Given the description of an element on the screen output the (x, y) to click on. 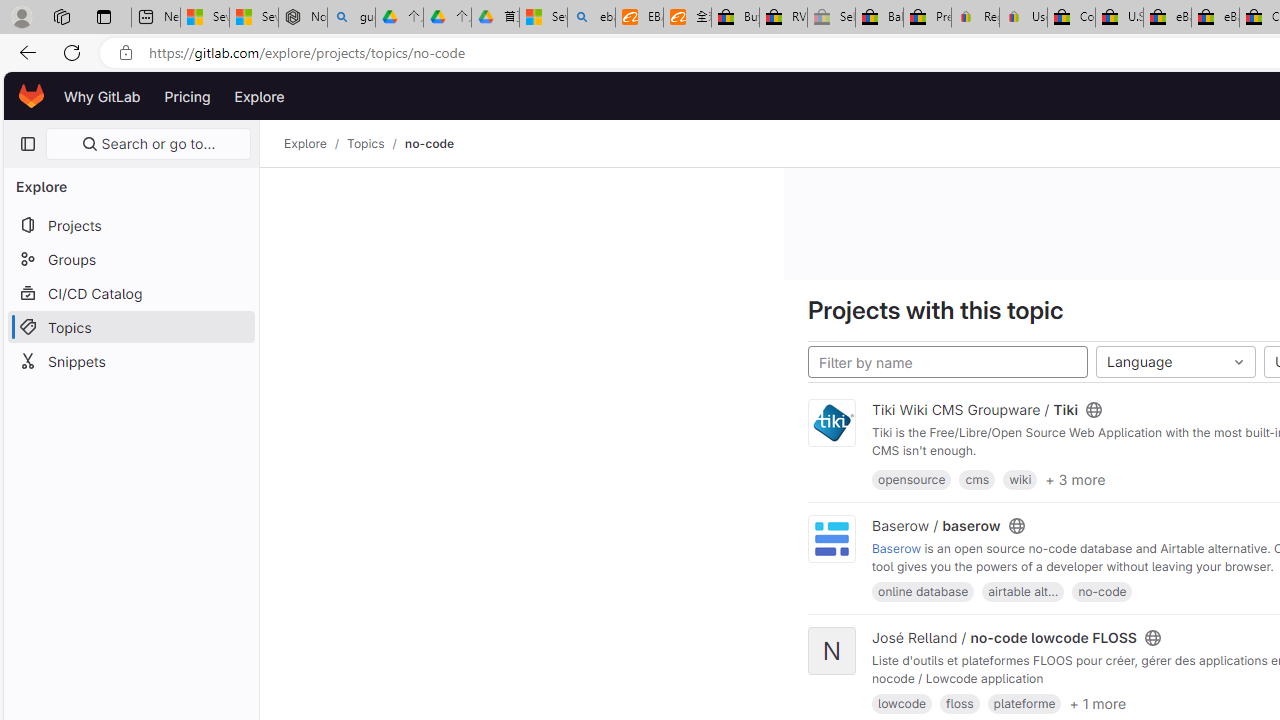
no-code (1101, 591)
CI/CD Catalog (130, 292)
Filter by name (947, 362)
Snippets (130, 360)
opensource (911, 479)
Pricing (187, 95)
